Given the description of an element on the screen output the (x, y) to click on. 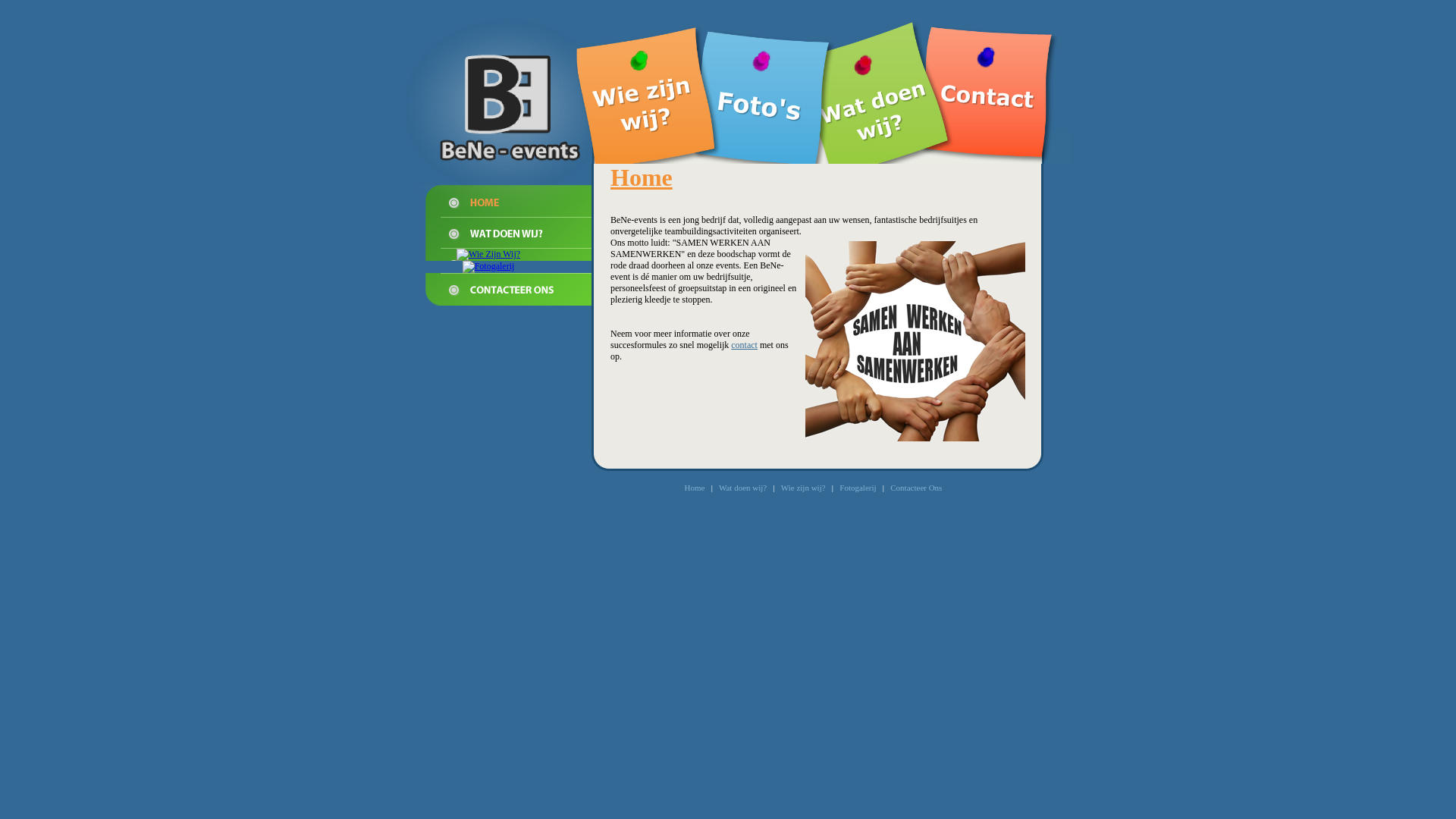
Fotogalerij Element type: text (857, 487)
Contacteer Ons Element type: text (915, 487)
contact Element type: text (744, 344)
Wie zijn wij? Element type: text (803, 487)
Home Element type: text (694, 487)
Wat doen wij? Element type: text (742, 487)
